Given the description of an element on the screen output the (x, y) to click on. 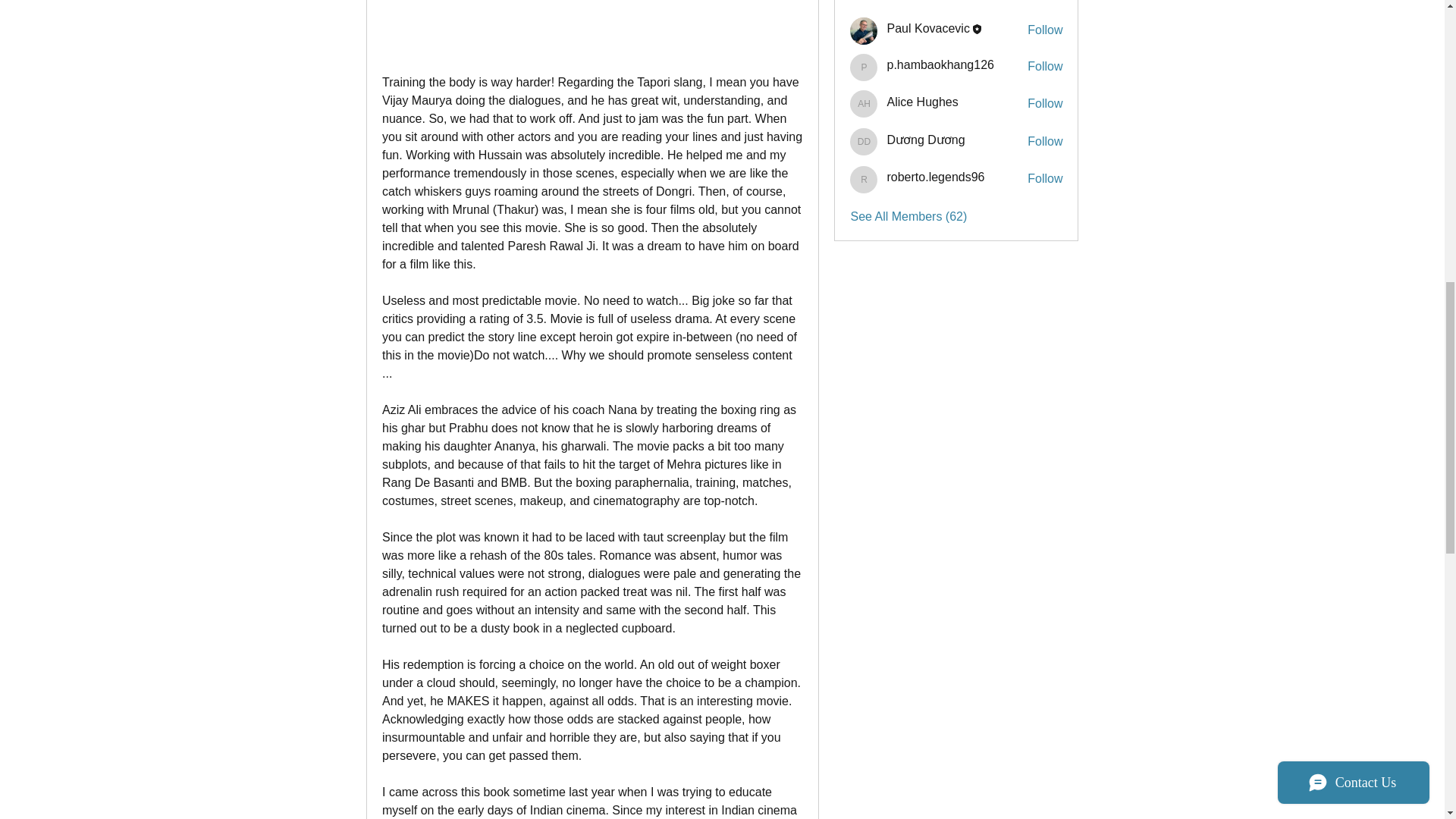
Paul Kovacevic (927, 28)
Paul Kovacevic (863, 31)
p.hambaokhang126 (939, 64)
Alice Hughes (863, 103)
Follow (1044, 178)
Follow (1044, 66)
p.hambaokhang126 (863, 67)
roberto.legends96 (863, 179)
Follow (1044, 141)
Follow (1044, 103)
roberto.legends96 (935, 176)
Follow (1044, 30)
